Given the description of an element on the screen output the (x, y) to click on. 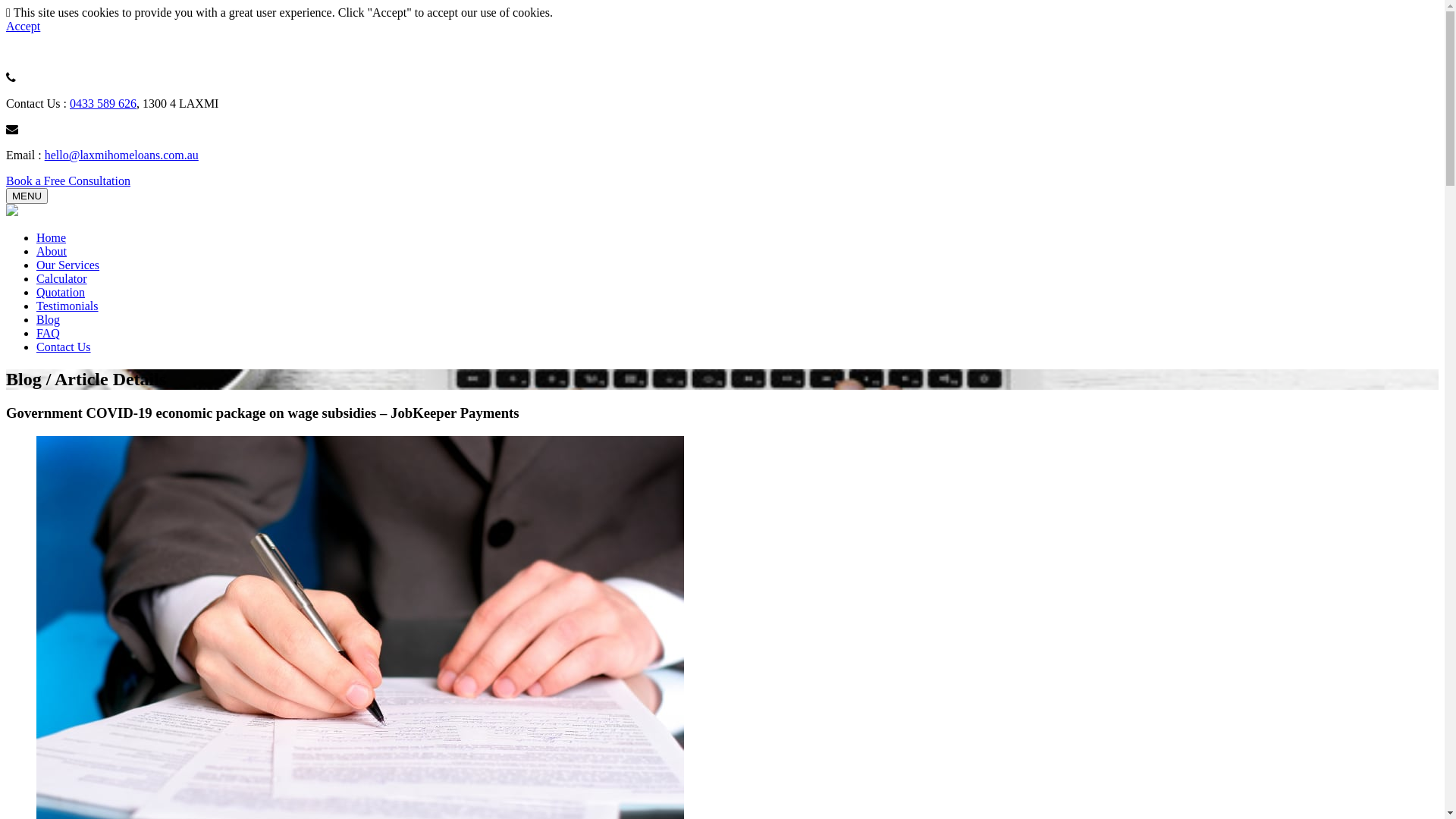
Blog Element type: text (47, 319)
Quotation Element type: text (60, 291)
Calculator Element type: text (61, 278)
Our Services Element type: text (67, 264)
MENU Element type: text (26, 195)
About Element type: text (51, 250)
Home Element type: text (50, 237)
FAQ Element type: text (47, 332)
Accept Element type: text (23, 25)
hello@laxmihomeloans.com.au Element type: text (121, 154)
Book a Free Consultation Element type: text (68, 180)
0433 589 626 Element type: text (102, 103)
Testimonials Element type: text (67, 305)
Contact Us Element type: text (63, 346)
